Given the description of an element on the screen output the (x, y) to click on. 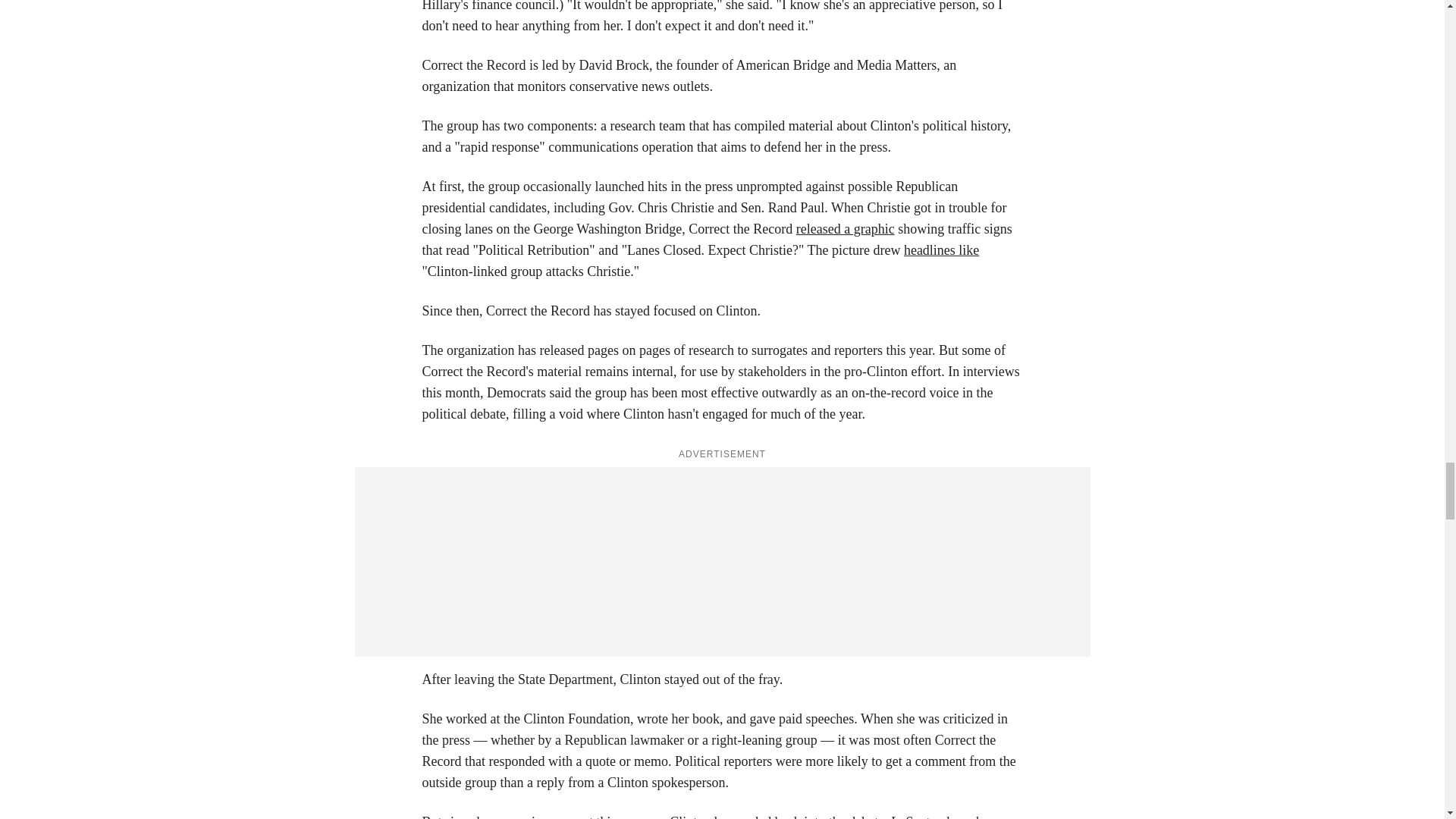
headlines like (941, 249)
released a graphic (845, 228)
